Given the description of an element on the screen output the (x, y) to click on. 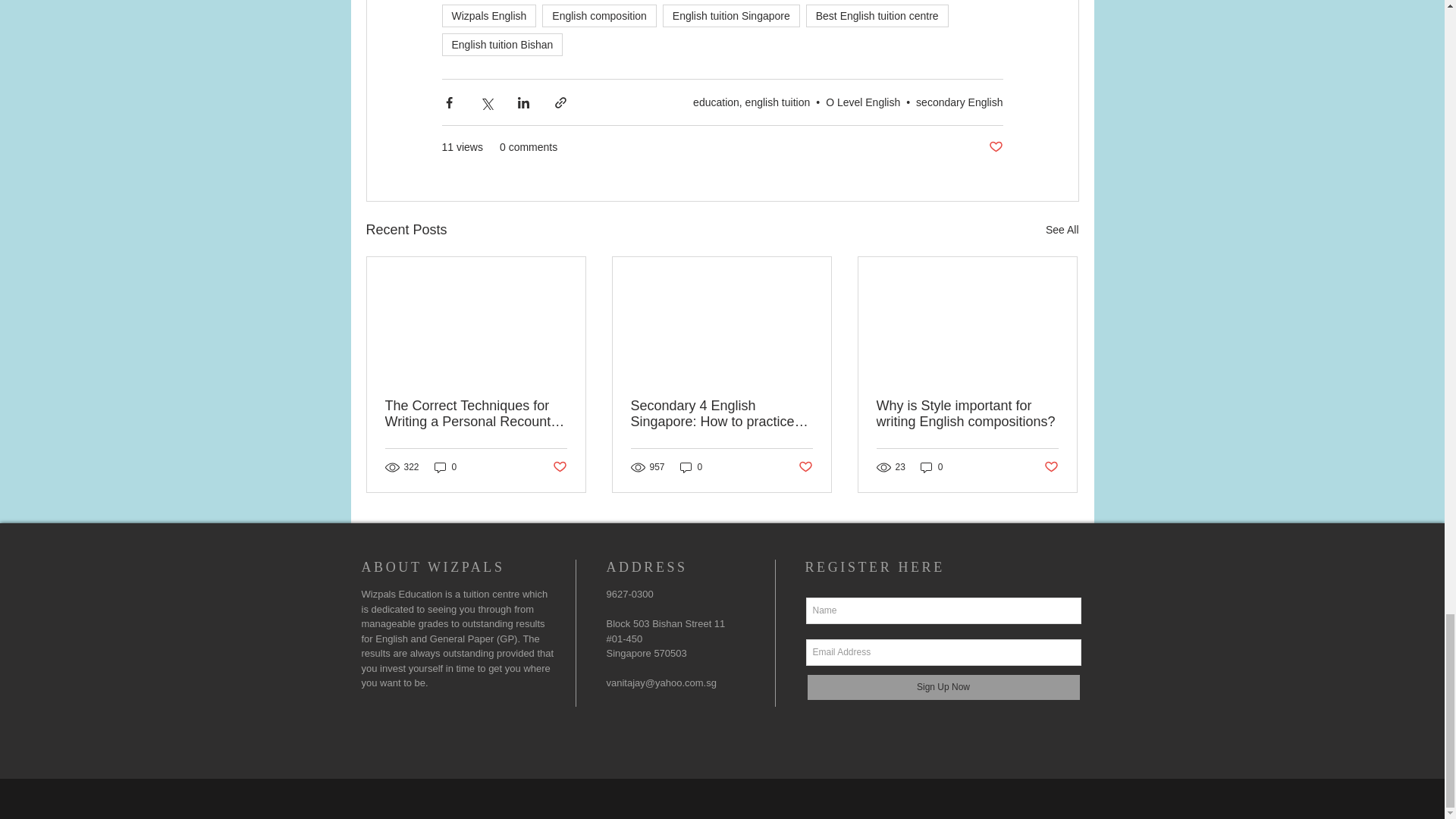
See All (1061, 229)
0 (445, 467)
Best English tuition centre (877, 15)
English tuition Singapore (730, 15)
Post not marked as liked (804, 467)
Post not marked as liked (995, 147)
0 (691, 467)
education, english tuition (751, 102)
English composition (598, 15)
Post not marked as liked (558, 467)
